Given the description of an element on the screen output the (x, y) to click on. 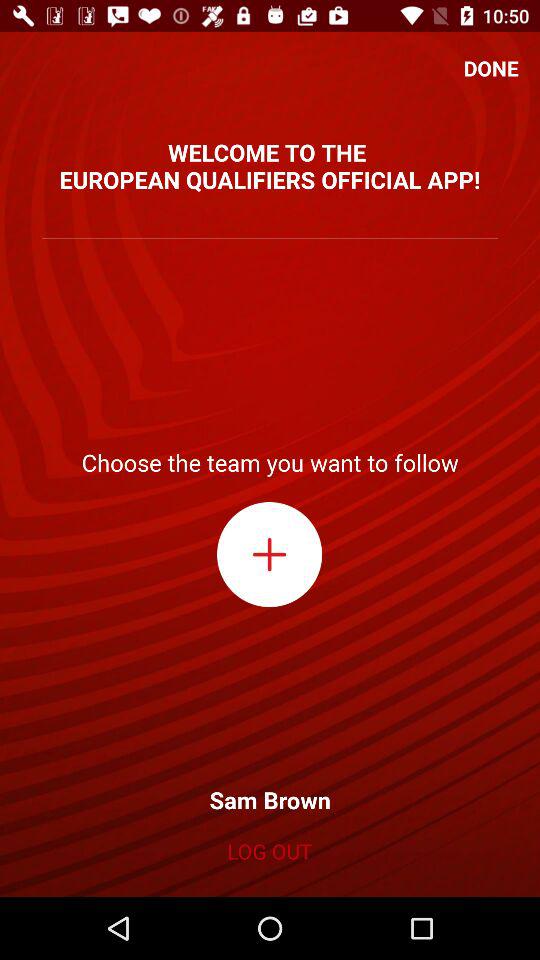
add new team (269, 554)
